Given the description of an element on the screen output the (x, y) to click on. 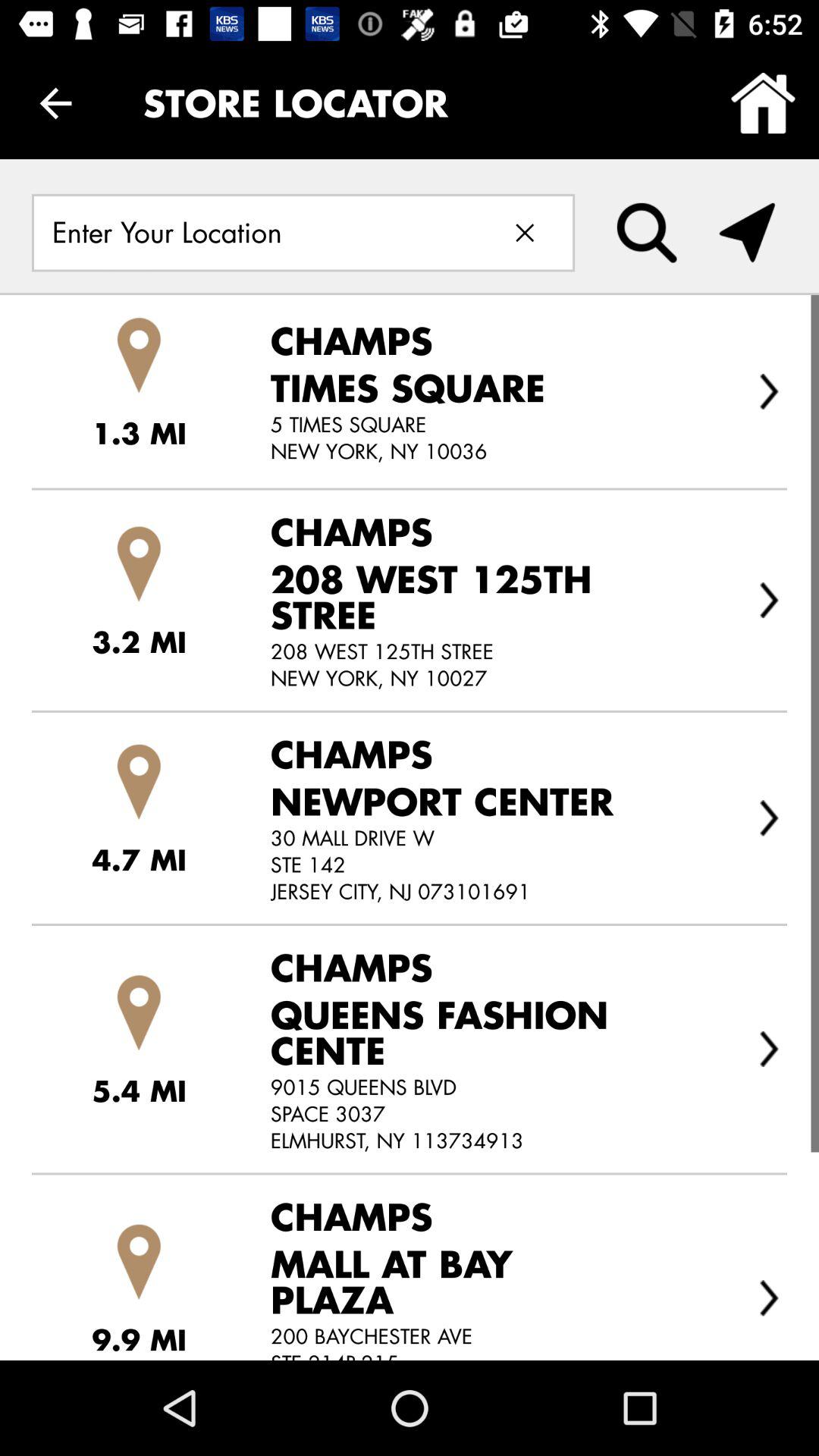
open keyboard and enter location (255, 232)
